Given the description of an element on the screen output the (x, y) to click on. 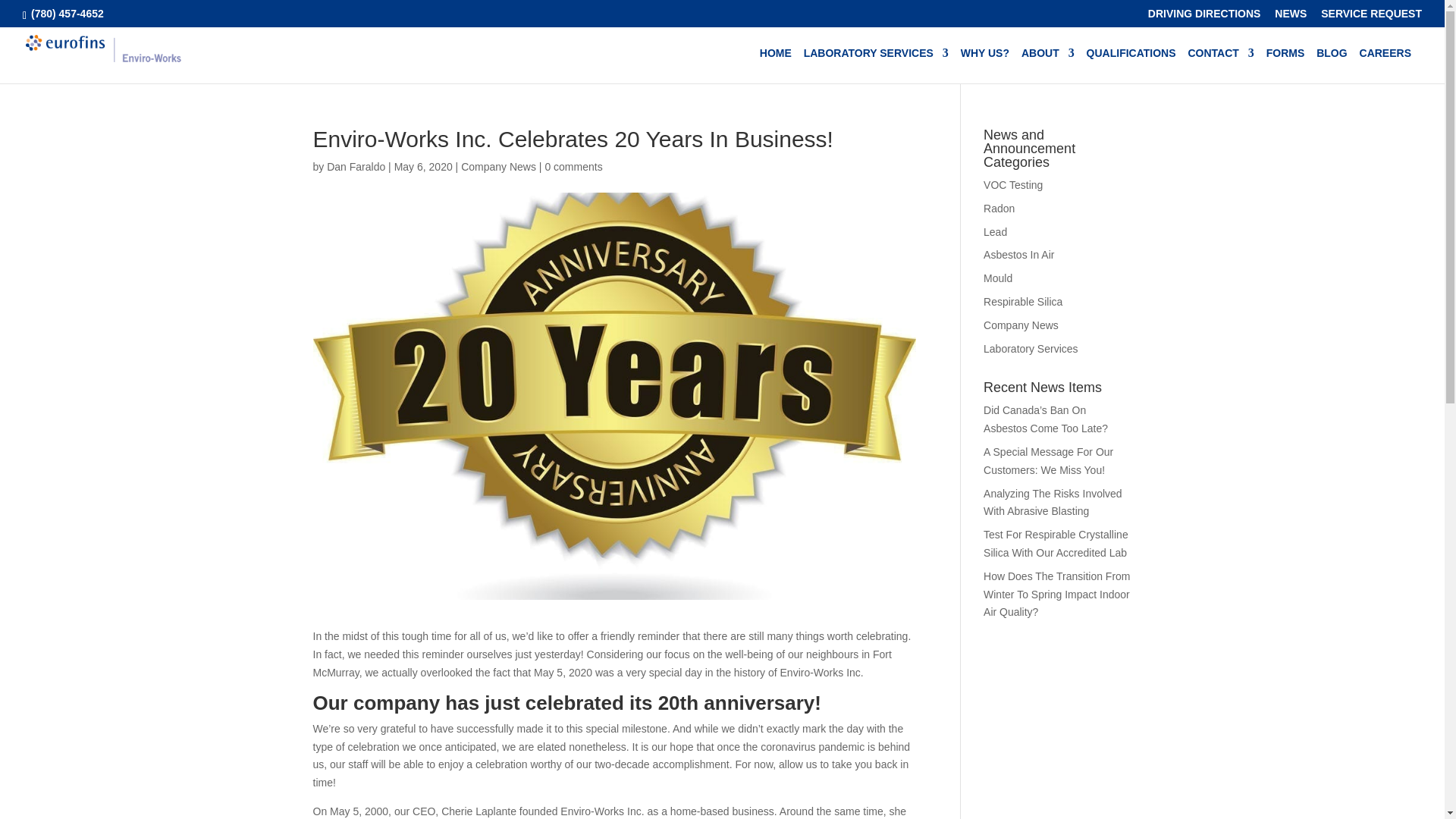
FORMS (1285, 65)
CAREERS (1384, 65)
ABOUT (1048, 65)
CONTACT (1220, 65)
SERVICE REQUEST (1371, 16)
Posts by Dan Faraldo (355, 166)
NEWS (1290, 16)
DRIVING DIRECTIONS (1204, 16)
QUALIFICATIONS (1131, 65)
WHY US? (984, 65)
LABORATORY SERVICES (876, 65)
0 comments (573, 166)
HOME (776, 65)
Dan Faraldo (355, 166)
Company News (498, 166)
